Given the description of an element on the screen output the (x, y) to click on. 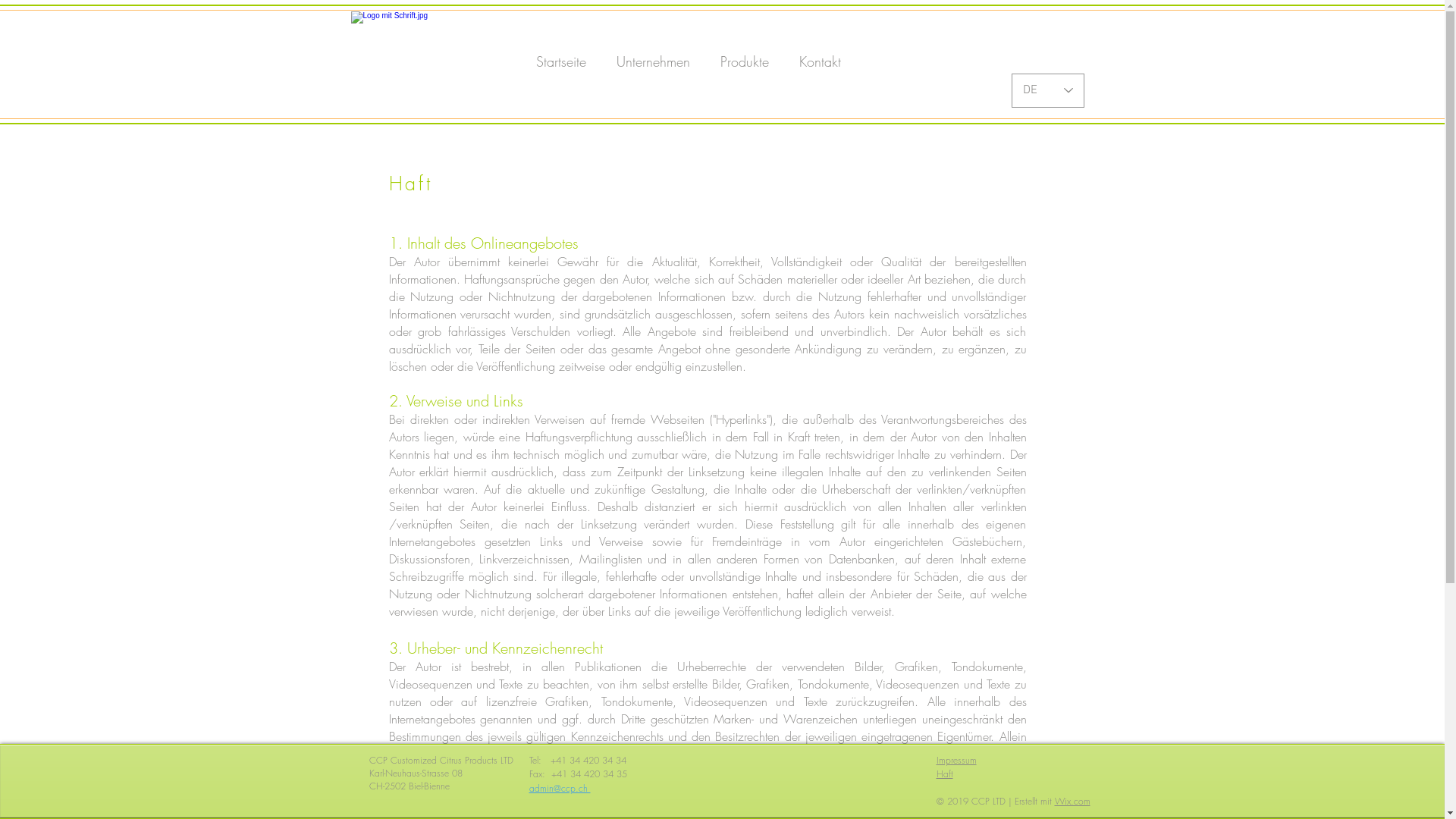
Impressum Element type: text (955, 761)
Unternehmen Element type: text (652, 61)
Startseite Element type: text (560, 61)
admin@ccp.ch  Element type: text (559, 789)
Haft Element type: text (943, 773)
Kontakt Element type: text (820, 61)
Site Search Element type: hover (1011, 63)
Produkte Element type: text (744, 61)
Wix.com Element type: text (1071, 800)
